Given the description of an element on the screen output the (x, y) to click on. 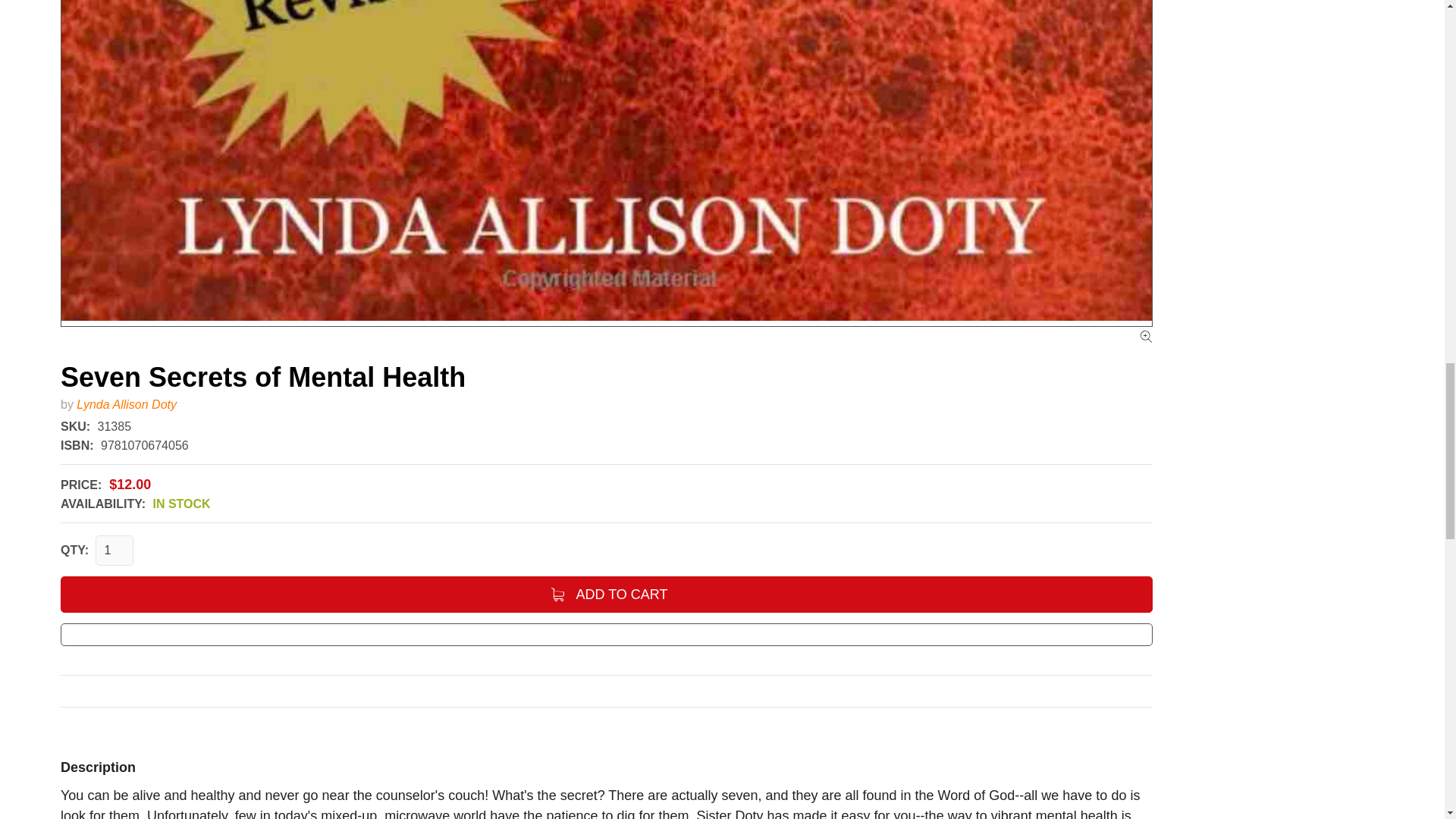
1 (114, 550)
